Given the description of an element on the screen output the (x, y) to click on. 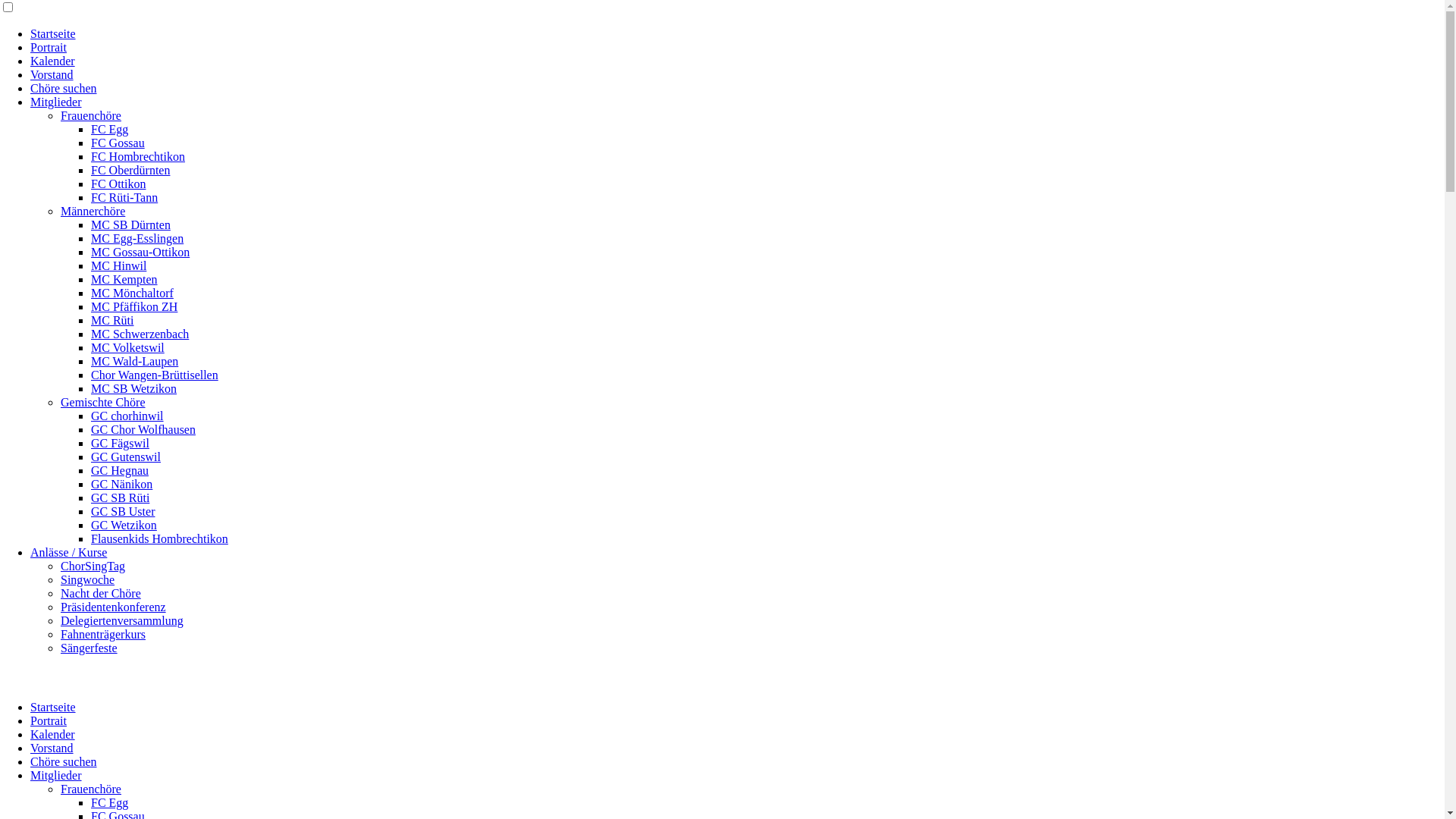
FC Hombrechtikon Element type: text (138, 156)
Singwoche Element type: text (87, 579)
MC Hinwil Element type: text (118, 265)
MC Wald-Laupen Element type: text (134, 360)
MC SB Wetzikon Element type: text (133, 388)
Portrait Element type: text (48, 720)
GC chorhinwil Element type: text (127, 415)
GC Hegnau Element type: text (119, 470)
Mitglieder Element type: text (55, 774)
MC Schwerzenbach Element type: text (139, 333)
GC Gutenswil Element type: text (125, 456)
Portrait Element type: text (48, 46)
Startseite Element type: text (52, 706)
Mitglieder Element type: text (55, 101)
Kalender Element type: text (52, 734)
MC Egg-Esslingen Element type: text (137, 238)
Startseite Element type: text (52, 33)
ChorSingTag Element type: text (92, 565)
MC Volketswil Element type: text (127, 347)
GC Chor Wolfhausen Element type: text (143, 429)
MC Kempten Element type: text (124, 279)
Delegiertenversammlung Element type: text (121, 620)
FC Egg Element type: text (109, 802)
Kalender Element type: text (52, 60)
Vorstand Element type: text (51, 74)
GC Wetzikon Element type: text (123, 524)
Flausenkids Hombrechtikon Element type: text (159, 538)
FC Ottikon Element type: text (118, 183)
GC SB Uster Element type: text (122, 511)
FC Egg Element type: text (109, 128)
FC Gossau Element type: text (117, 142)
MC Gossau-Ottikon Element type: text (140, 251)
Vorstand Element type: text (51, 747)
